Given the description of an element on the screen output the (x, y) to click on. 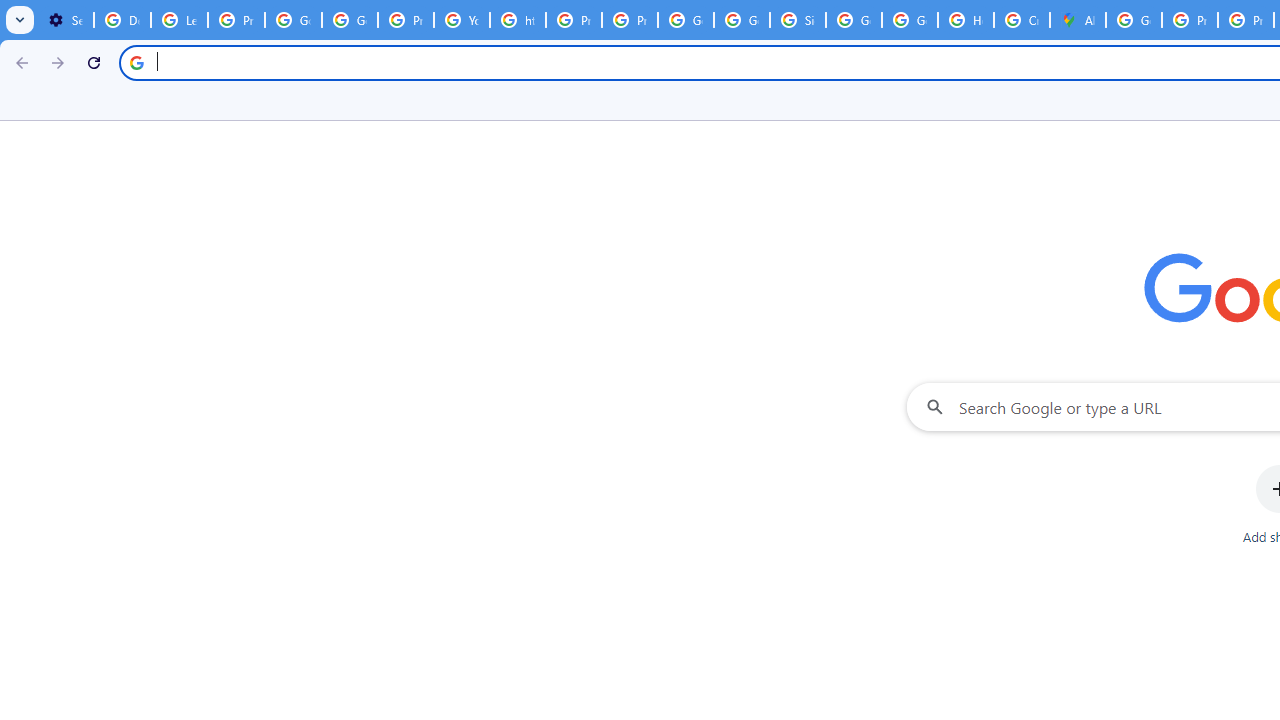
Settings - On startup (65, 20)
Google Account Help (293, 20)
Create your Google Account (1021, 20)
Privacy Help Center - Policies Help (1190, 20)
Privacy Help Center - Policies Help (573, 20)
